Given the description of an element on the screen output the (x, y) to click on. 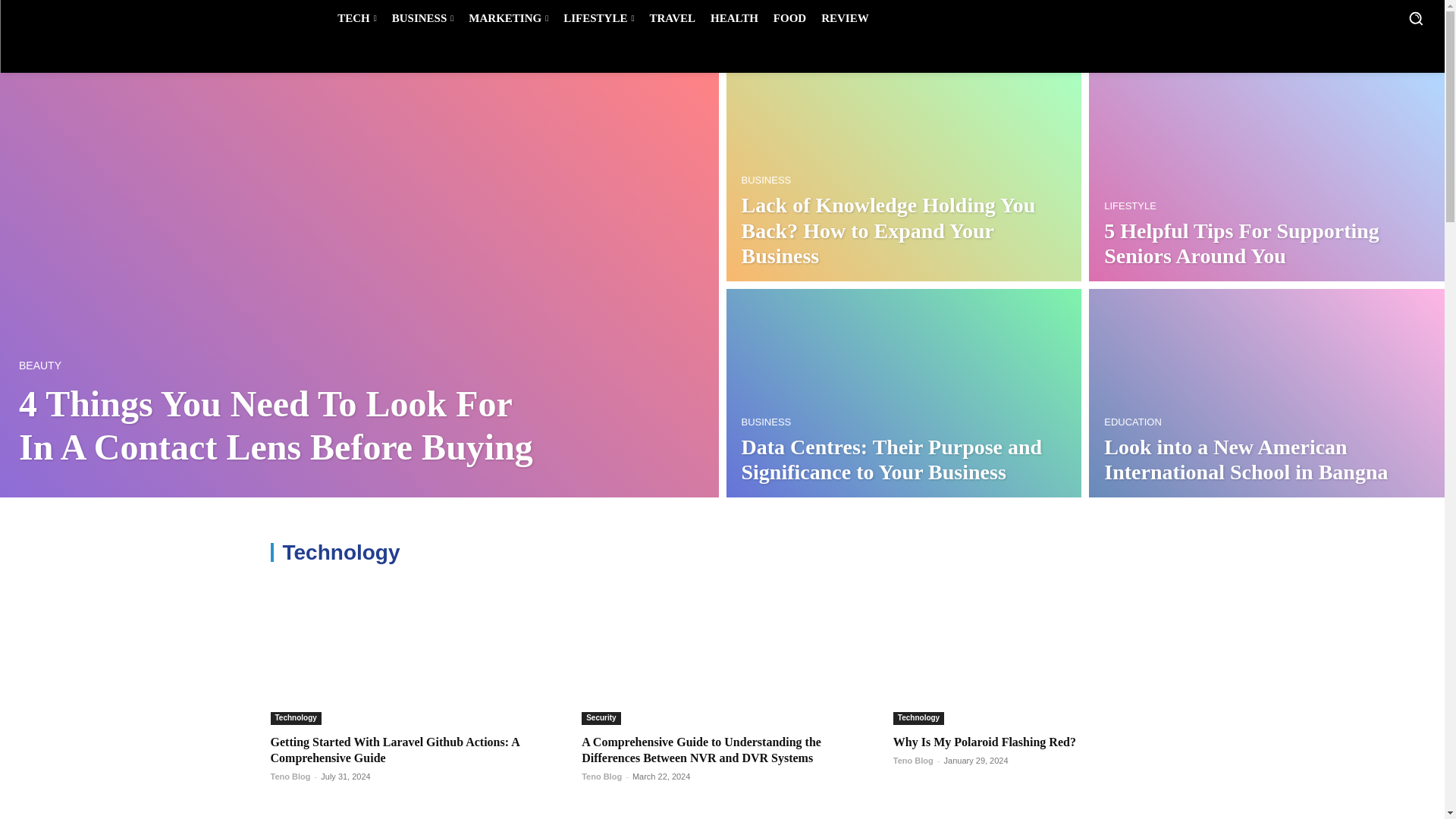
TECH (357, 18)
TenoBlog (74, 18)
